Given the description of an element on the screen output the (x, y) to click on. 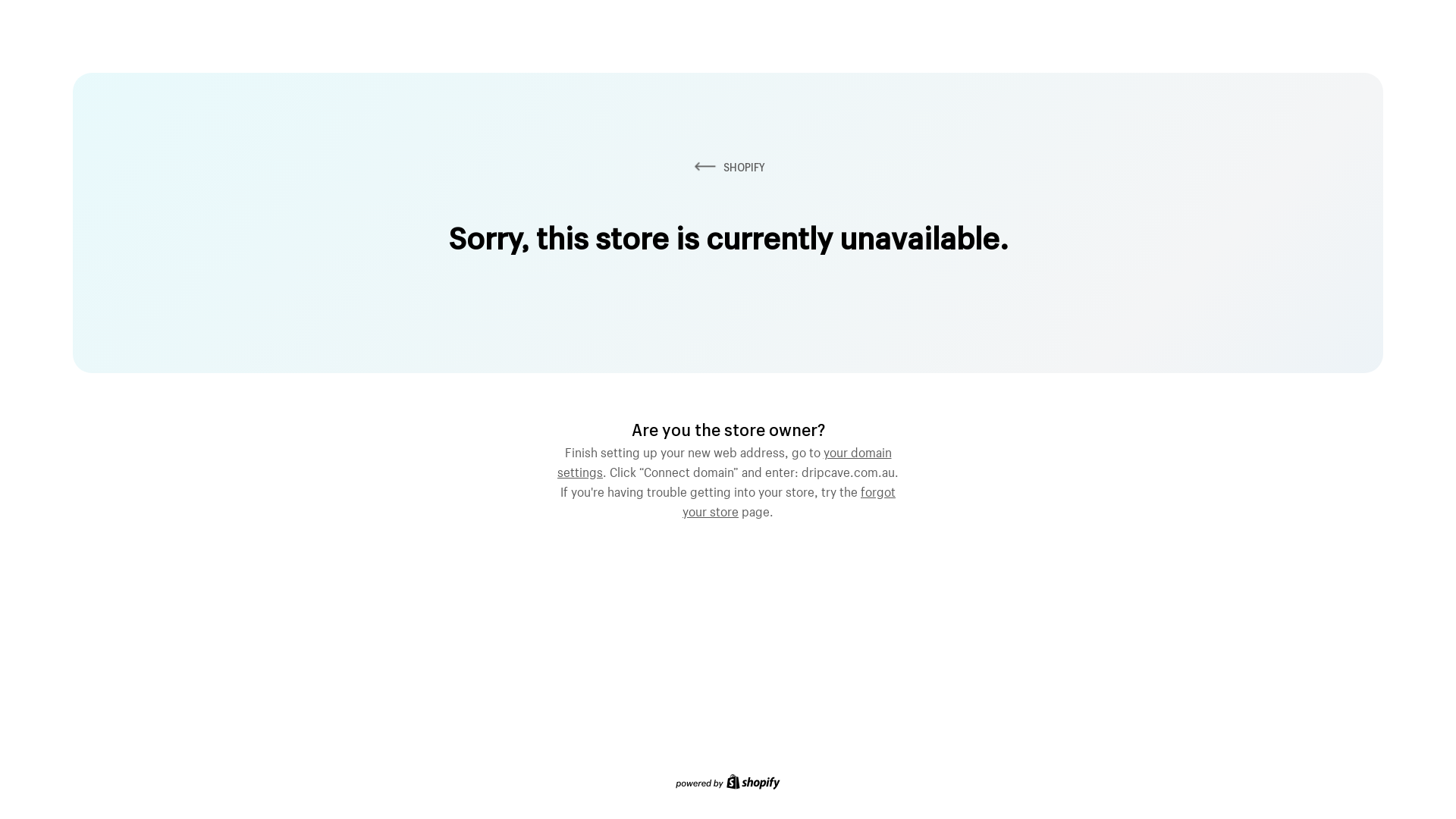
SHOPIFY Element type: text (727, 167)
forgot your store Element type: text (788, 499)
your domain settings Element type: text (724, 460)
